Given the description of an element on the screen output the (x, y) to click on. 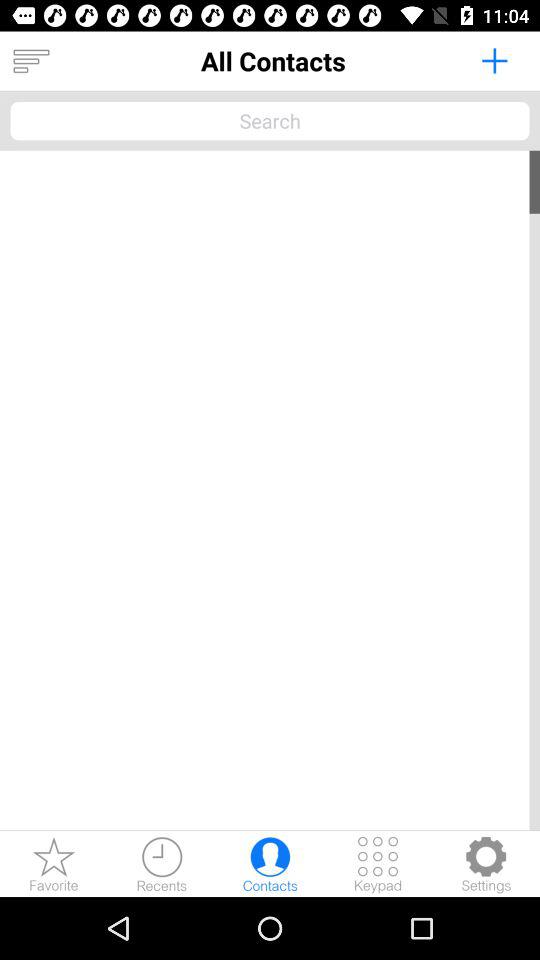
input search request (270, 120)
